Given the description of an element on the screen output the (x, y) to click on. 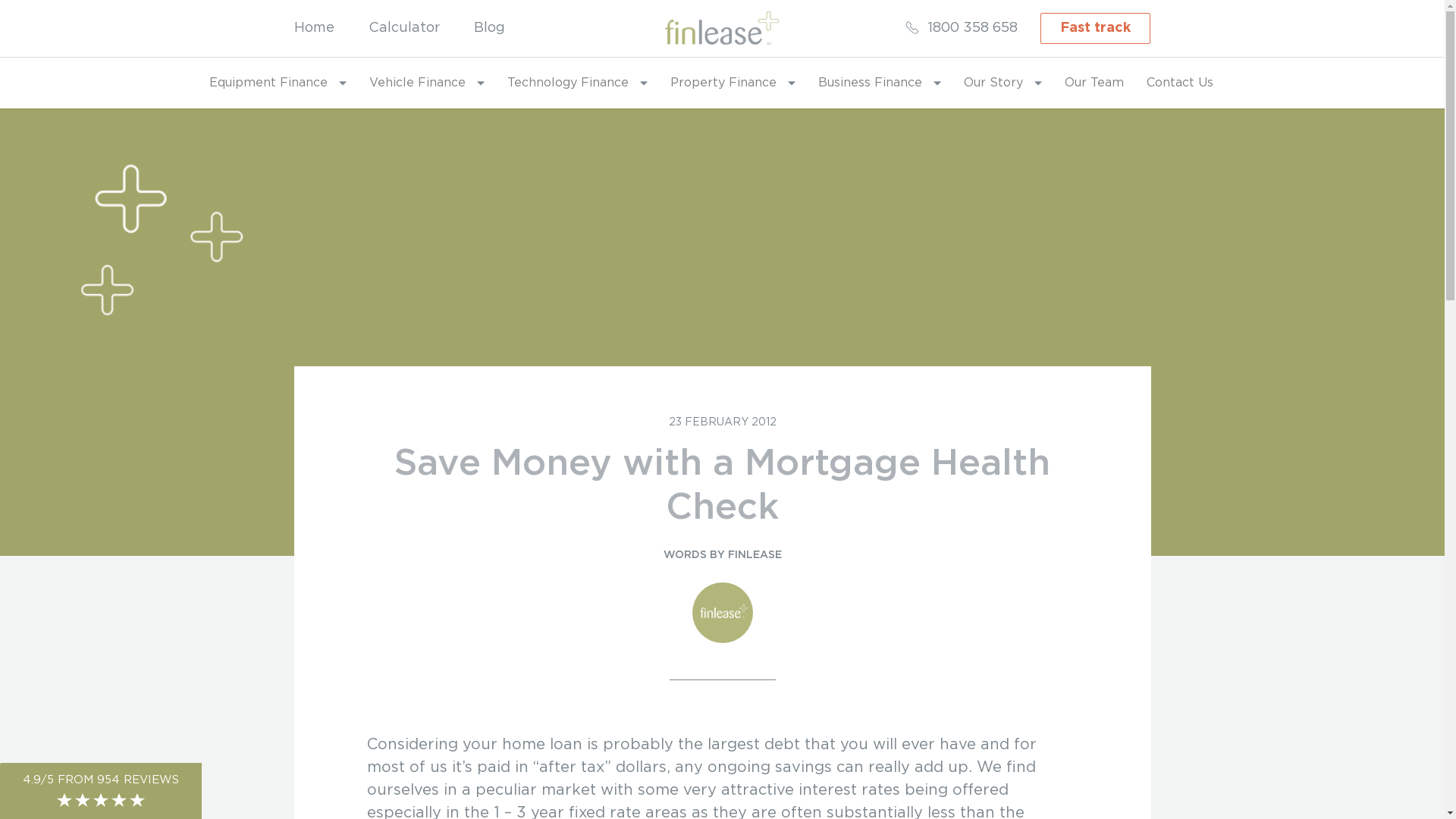
Calculator Element type: text (403, 27)
Vehicle Finance Element type: text (425, 82)
Equipment Finance Element type: text (277, 82)
Property Finance Element type: text (732, 82)
Home Element type: text (314, 27)
Contact Us Element type: text (1179, 82)
Business Finance Element type: text (878, 82)
1800 358 658 Element type: text (960, 27)
Our Team Element type: text (1093, 82)
Blog Element type: text (488, 27)
Our Story Element type: text (1002, 82)
Technology Finance Element type: text (576, 82)
Fast track Element type: text (1095, 27)
